Given the description of an element on the screen output the (x, y) to click on. 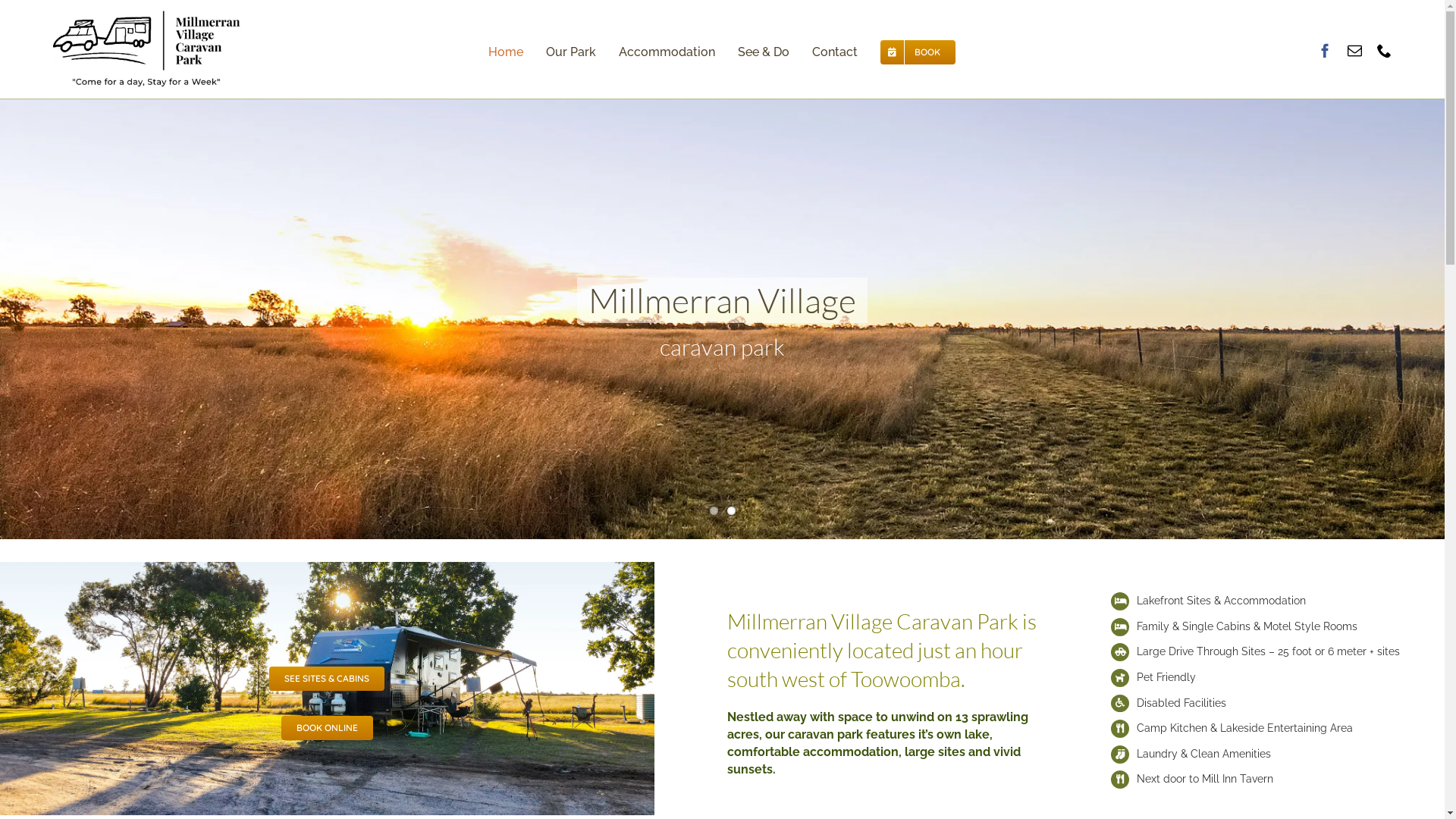
BOOK ONLINE Element type: text (327, 727)
2 Element type: text (730, 510)
1 Element type: text (713, 510)
SEE SITES & CABINS Element type: text (326, 678)
BOOK Element type: text (917, 52)
